Given the description of an element on the screen output the (x, y) to click on. 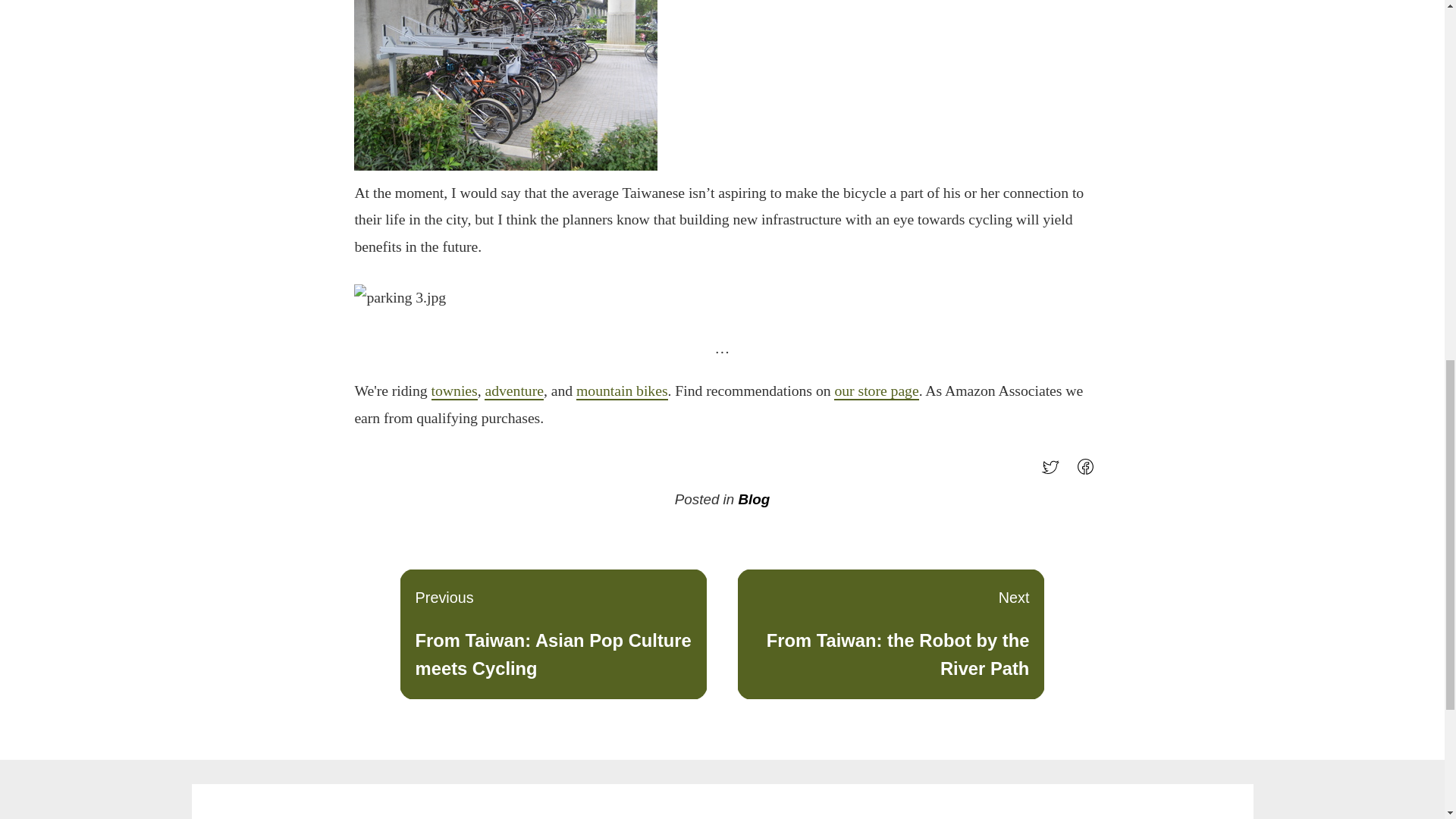
Blog (890, 633)
Share on Facebook (754, 498)
Tweet (1089, 472)
adventure (1054, 472)
townies (513, 391)
our store page (453, 391)
mountain bikes (876, 391)
